Given the description of an element on the screen output the (x, y) to click on. 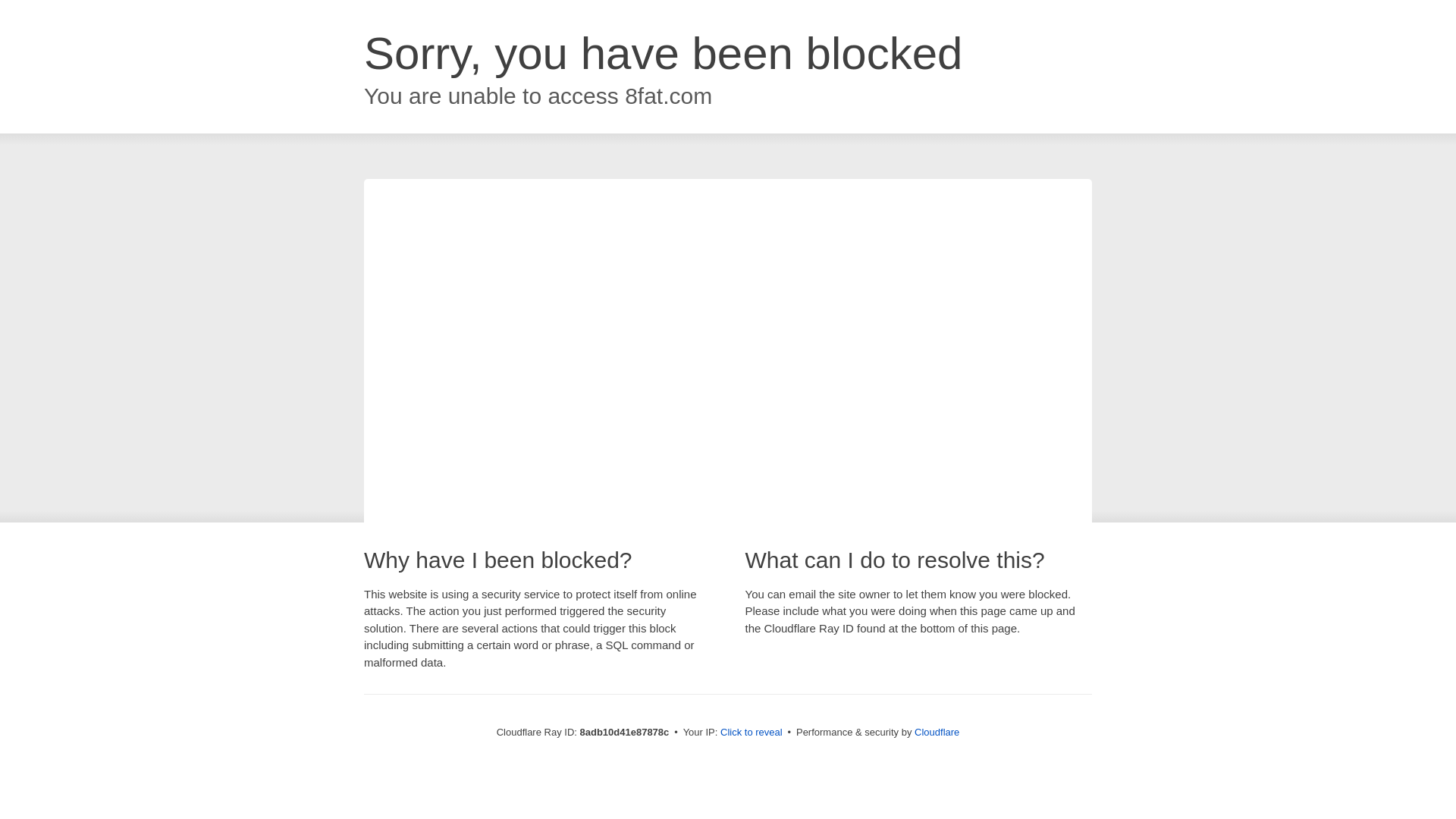
Cloudflare (936, 731)
Click to reveal (751, 732)
